Given the description of an element on the screen output the (x, y) to click on. 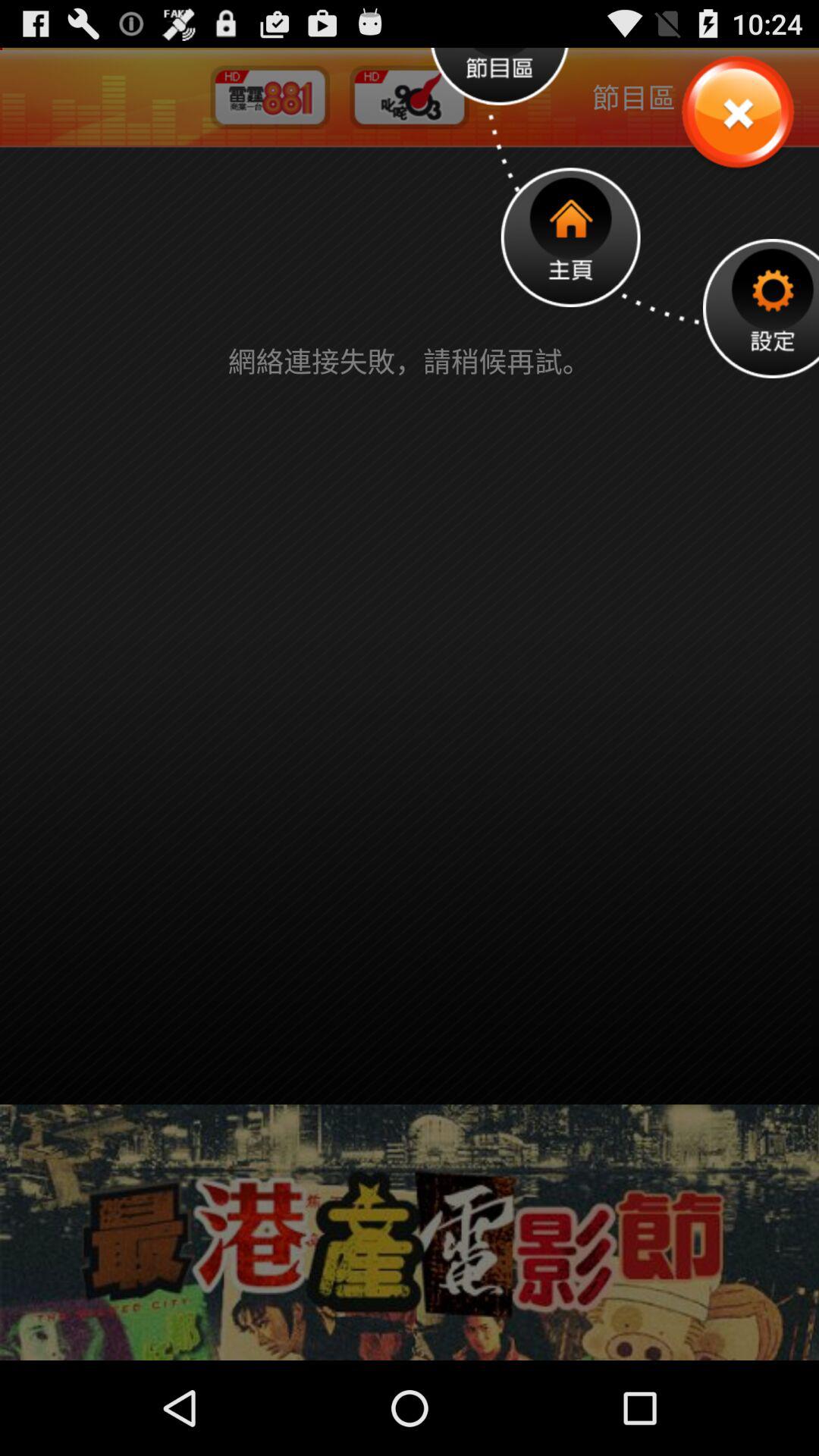
actualidad para todos (737, 113)
